Given the description of an element on the screen output the (x, y) to click on. 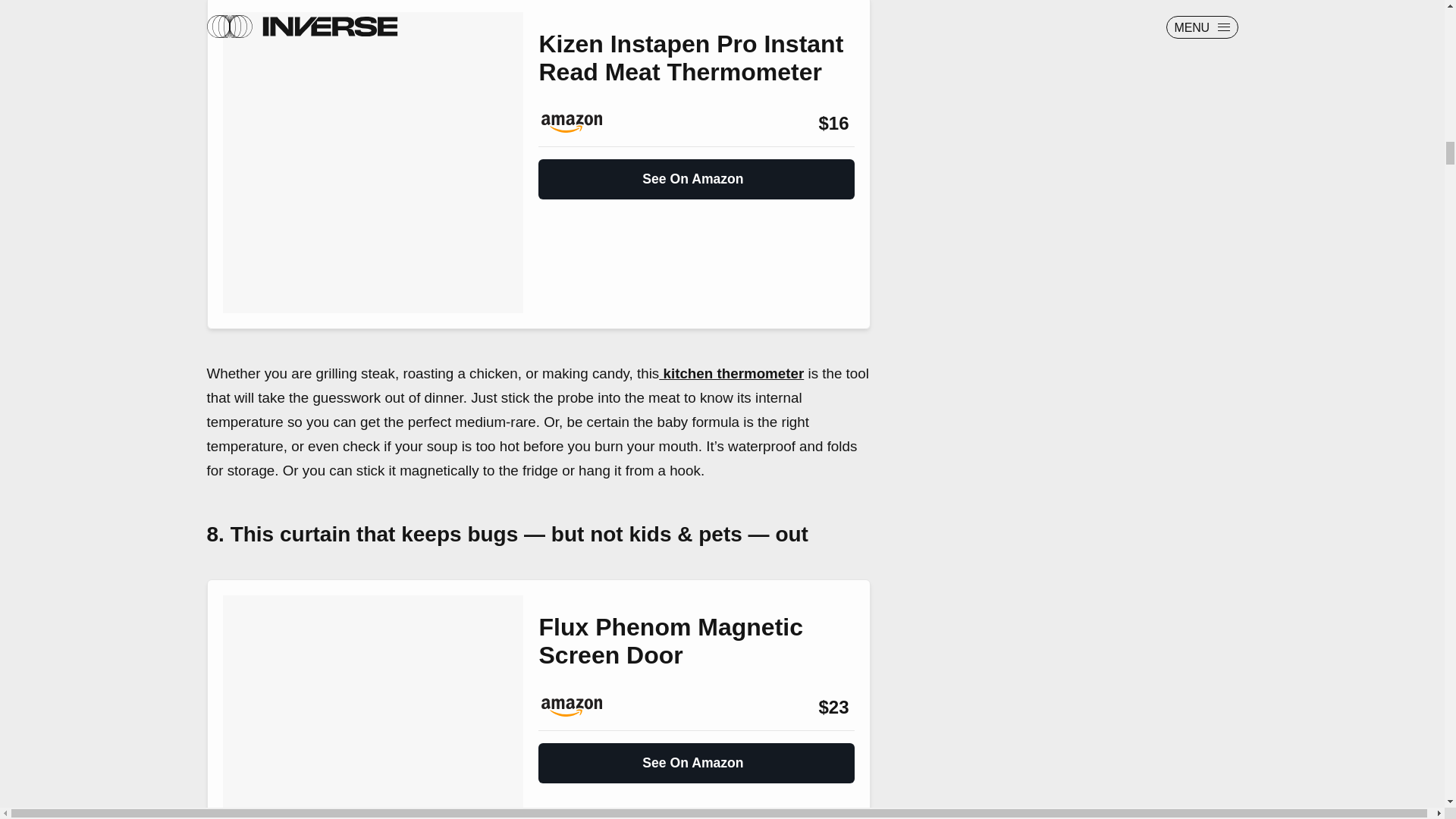
See On Amazon (696, 172)
Amazon (579, 707)
See On Amazon (696, 756)
kitchen thermometer (731, 373)
Amazon (579, 123)
